Given the description of an element on the screen output the (x, y) to click on. 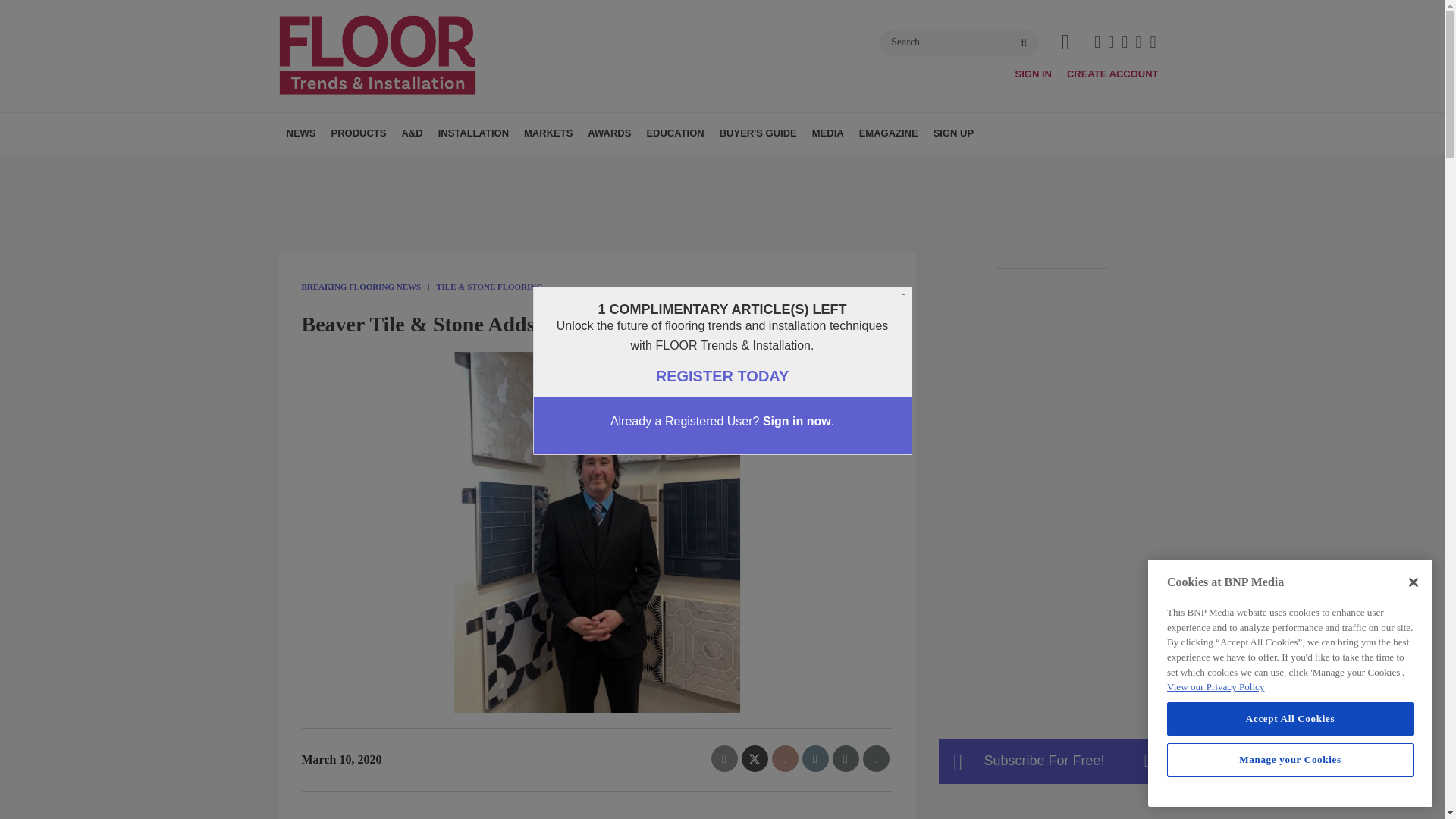
Search (959, 42)
Search (959, 42)
